Given the description of an element on the screen output the (x, y) to click on. 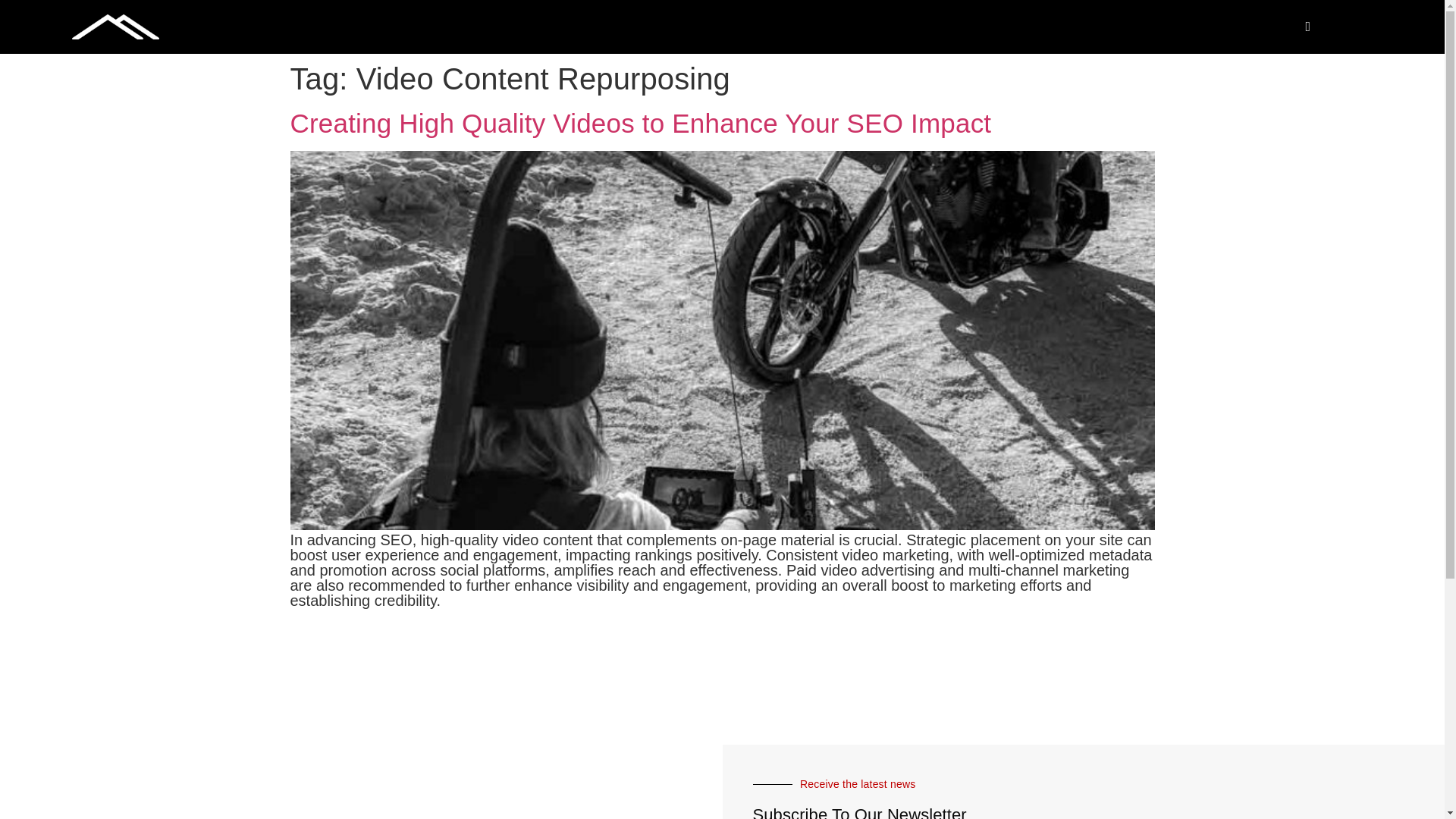
Creating High Quality Videos to Enhance Your SEO Impact (640, 123)
